Given the description of an element on the screen output the (x, y) to click on. 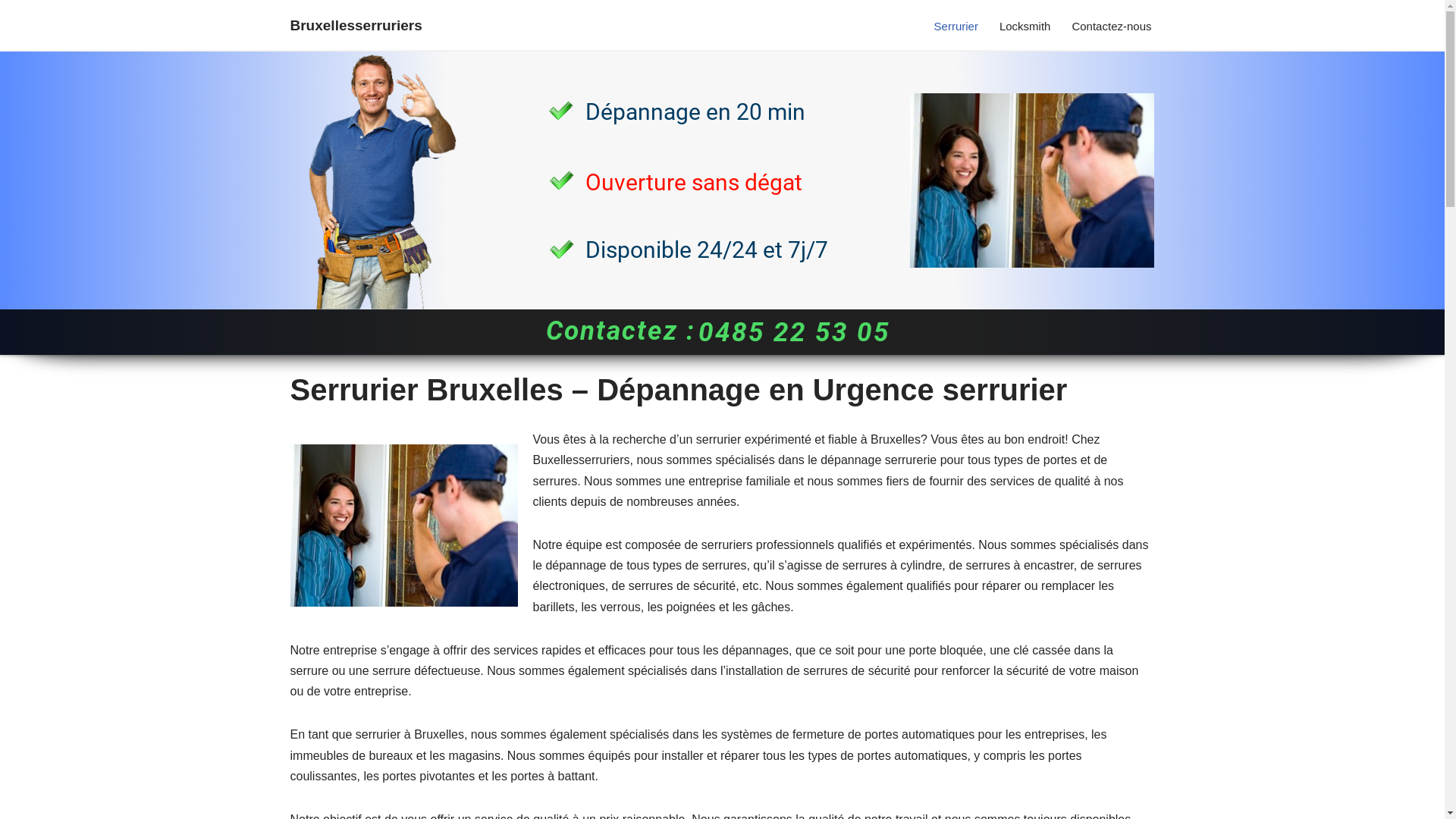
Contactez-nous Element type: text (1111, 25)
Aller au contenu Element type: text (11, 31)
Contactez : Element type: text (620, 331)
Locksmith Element type: text (1025, 25)
0485 22 53 05 Element type: text (794, 332)
Bruxellesserruriers Element type: text (355, 25)
Serrurier Element type: text (956, 25)
